Given the description of an element on the screen output the (x, y) to click on. 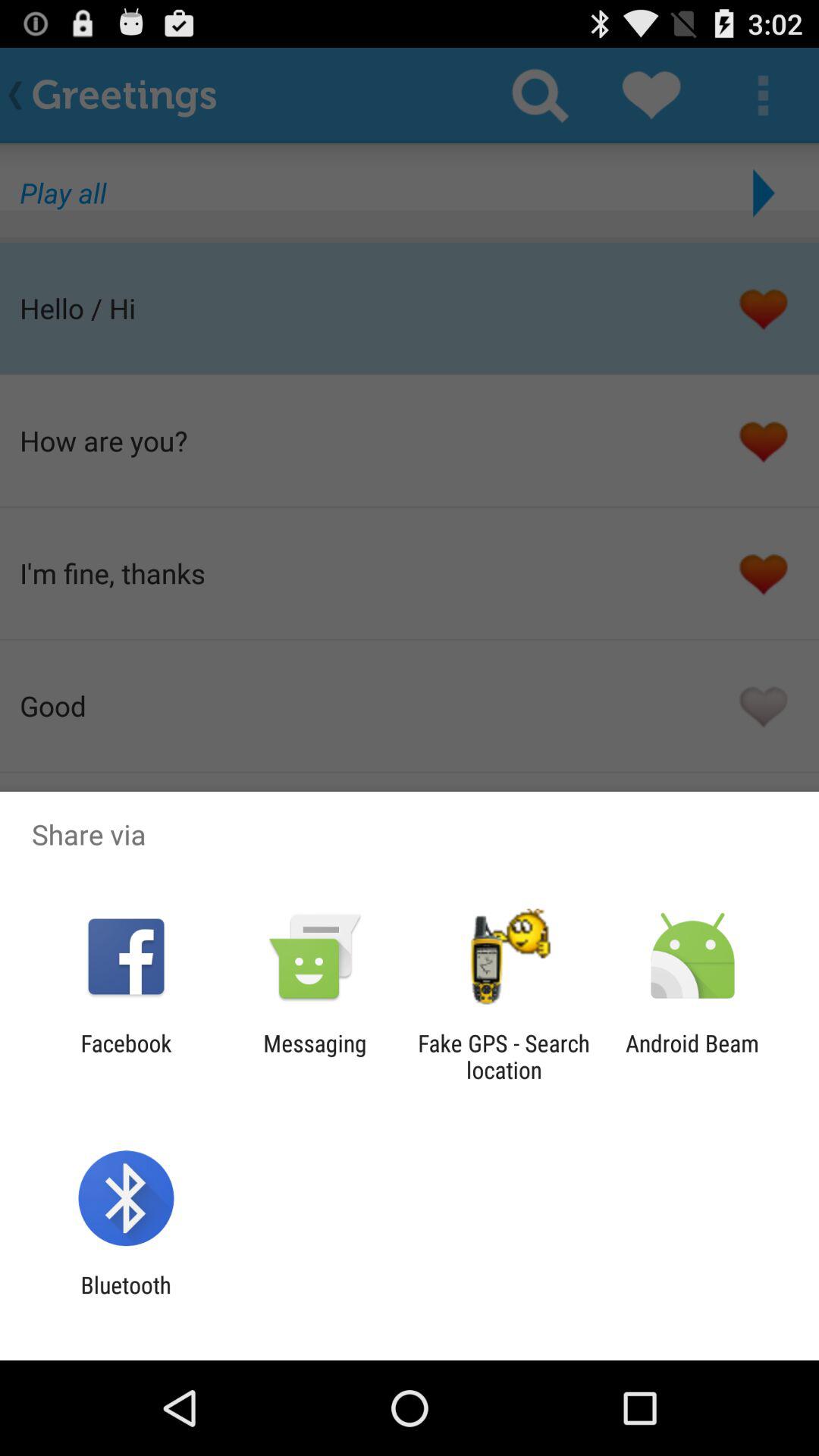
turn on the icon next to the android beam icon (503, 1056)
